Given the description of an element on the screen output the (x, y) to click on. 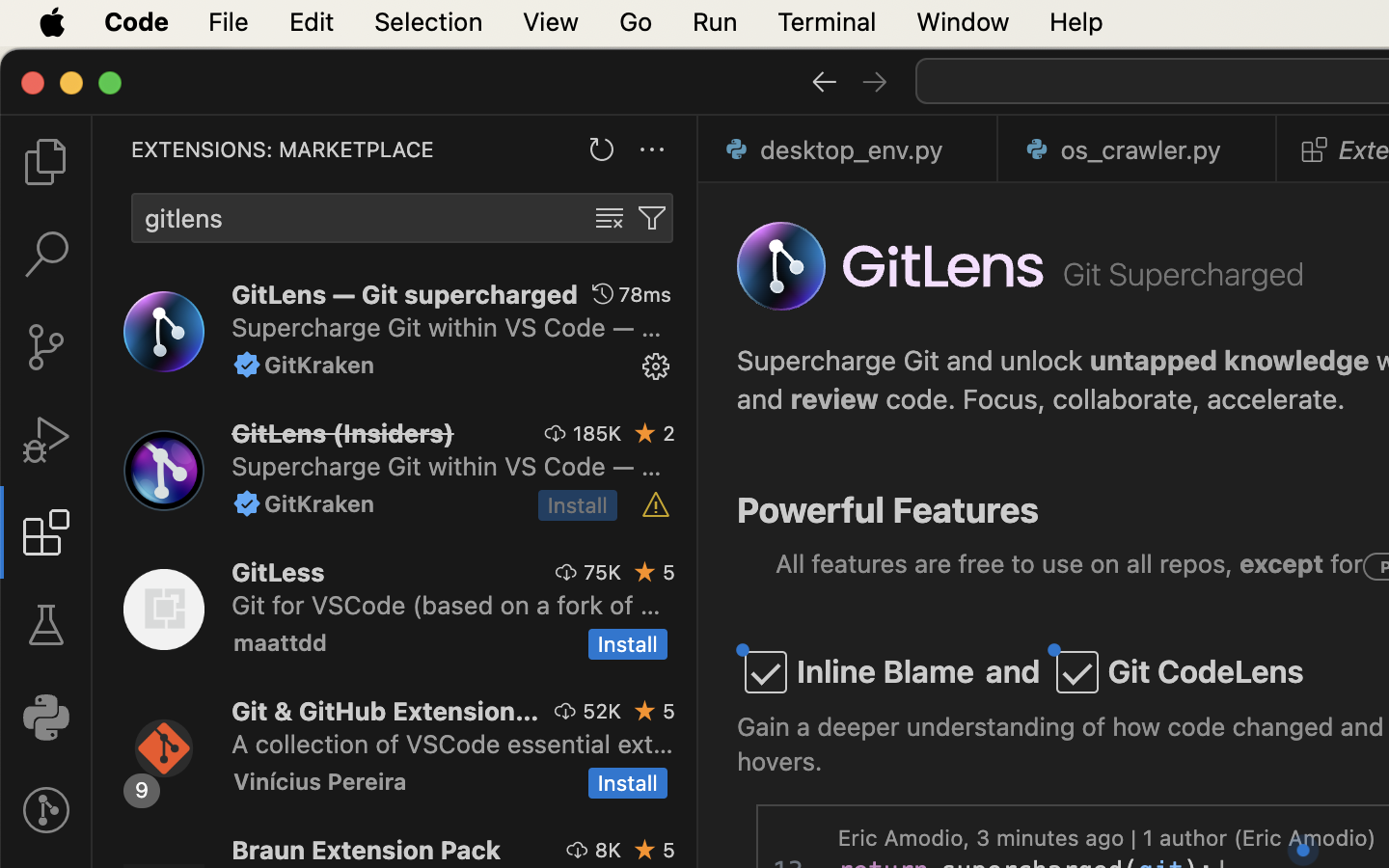
 Element type: AXStaticText (651, 217)
 Element type: AXStaticText (644, 571)
untapped knowledge Element type: AXStaticText (1229, 360)
185K Element type: AXStaticText (597, 432)
Vinícius Pereira Element type: AXStaticText (320, 780)
